Given the description of an element on the screen output the (x, y) to click on. 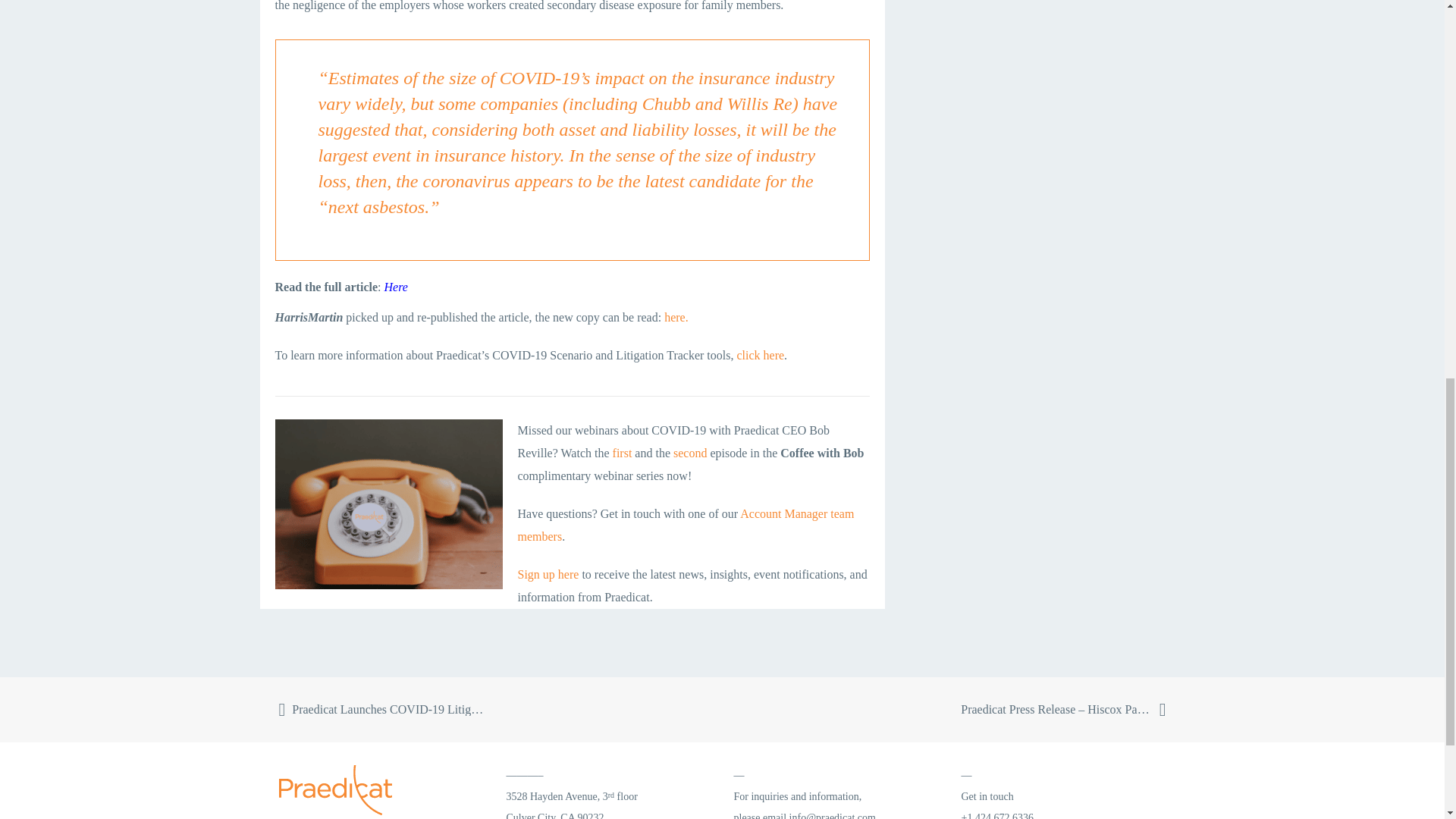
here. (675, 317)
Here (395, 286)
click here (760, 354)
